Given the description of an element on the screen output the (x, y) to click on. 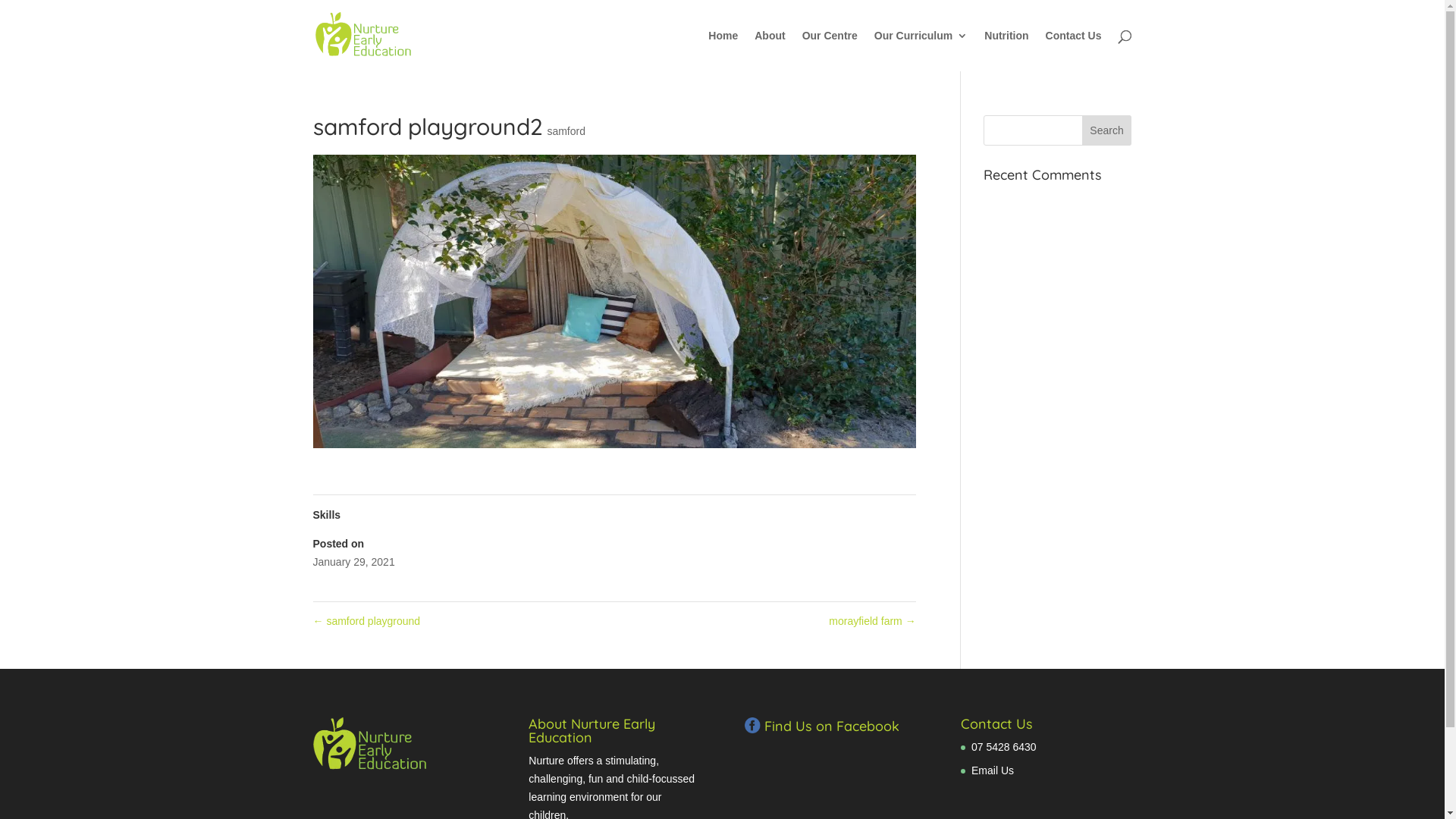
Our Centre Element type: text (829, 50)
Contact Us Element type: text (1073, 50)
Search Element type: text (1107, 130)
Contact Us Element type: text (996, 723)
samford Element type: text (565, 131)
Nutrition Element type: text (1006, 50)
07 5428 6430 Element type: text (1003, 746)
Our Curriculum Element type: text (920, 50)
Home Element type: text (722, 50)
Find Us on Facebook Element type: text (821, 725)
About Element type: text (769, 50)
Email Us Element type: text (992, 770)
